Given the description of an element on the screen output the (x, y) to click on. 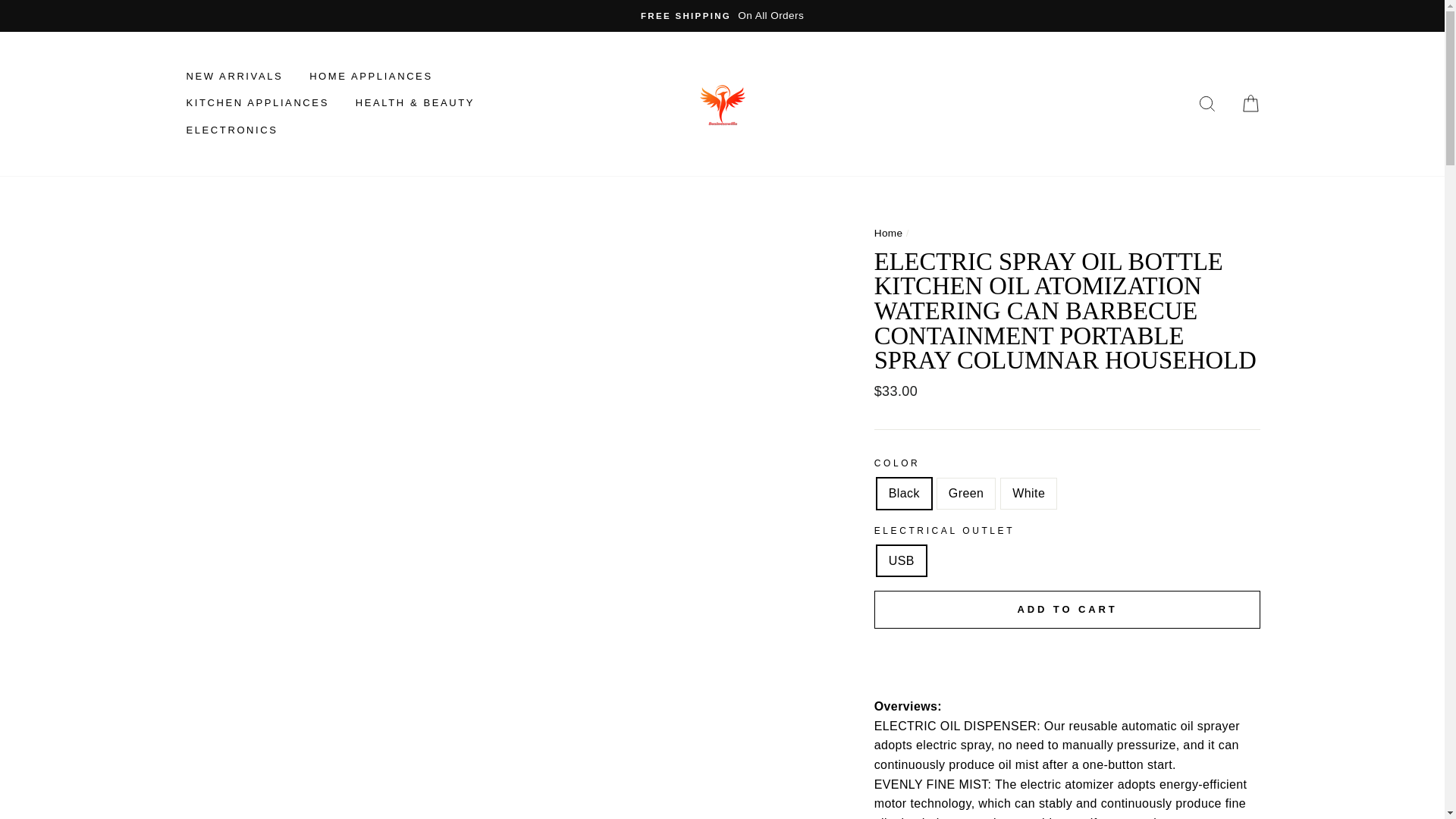
KITCHEN APPLIANCES (256, 103)
NEW ARRIVALS (234, 76)
CART (1249, 102)
SEARCH (1207, 102)
HOME APPLIANCES (371, 76)
